Given the description of an element on the screen output the (x, y) to click on. 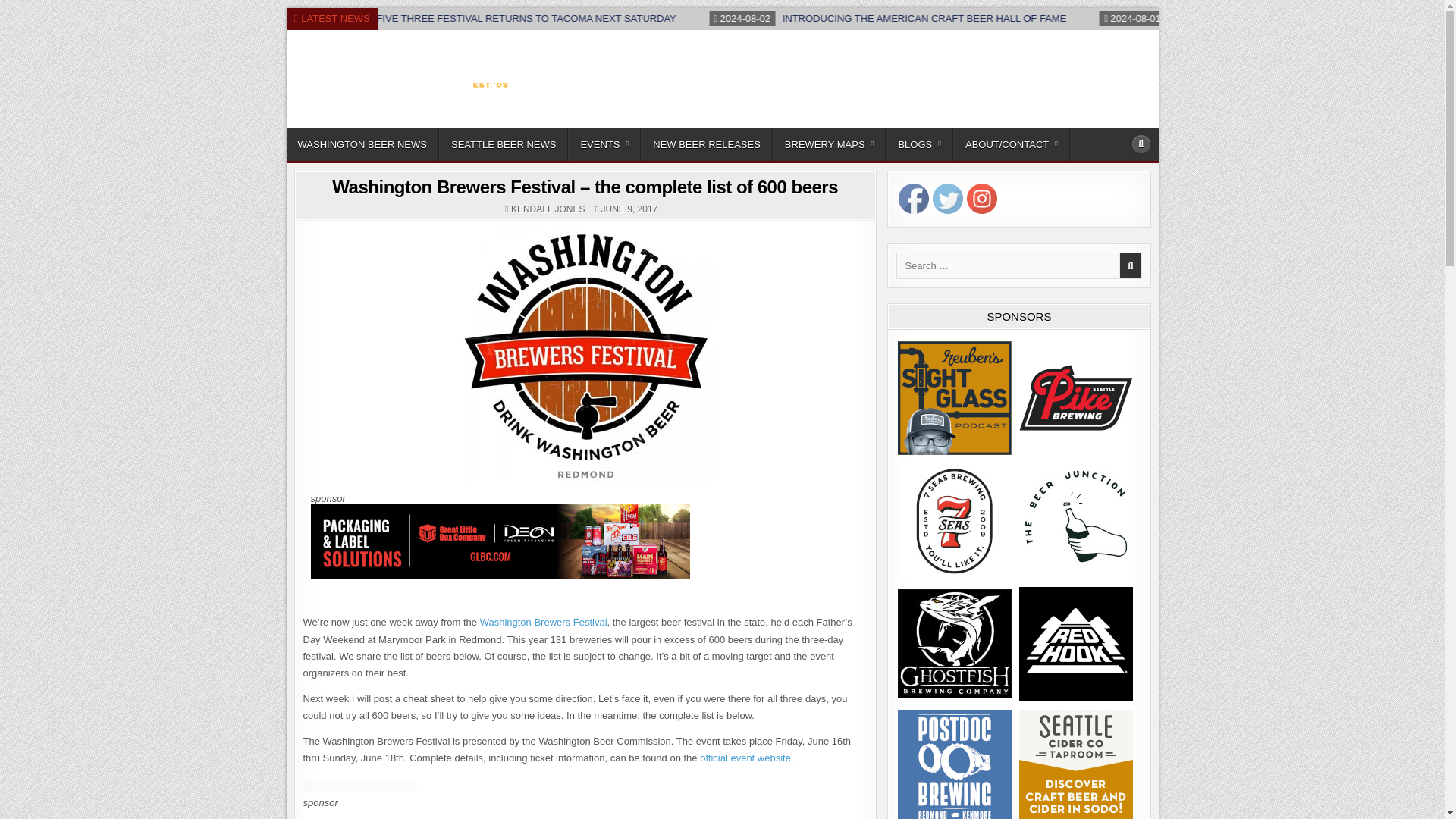
WASHINGTON BEER NEWS (362, 143)
NEW BEER RELEASES (706, 143)
 2024-08-02 INTRODUCING THE AMERICAN CRAFT BEER HALL OF FAME (1008, 18)
KENDALL JONES (548, 208)
The Washington Beer Blog (400, 124)
BLOGS (919, 143)
SEATTLE BEER NEWS (503, 143)
EVENTS (603, 143)
BREWERY MAPS (829, 143)
